Given the description of an element on the screen output the (x, y) to click on. 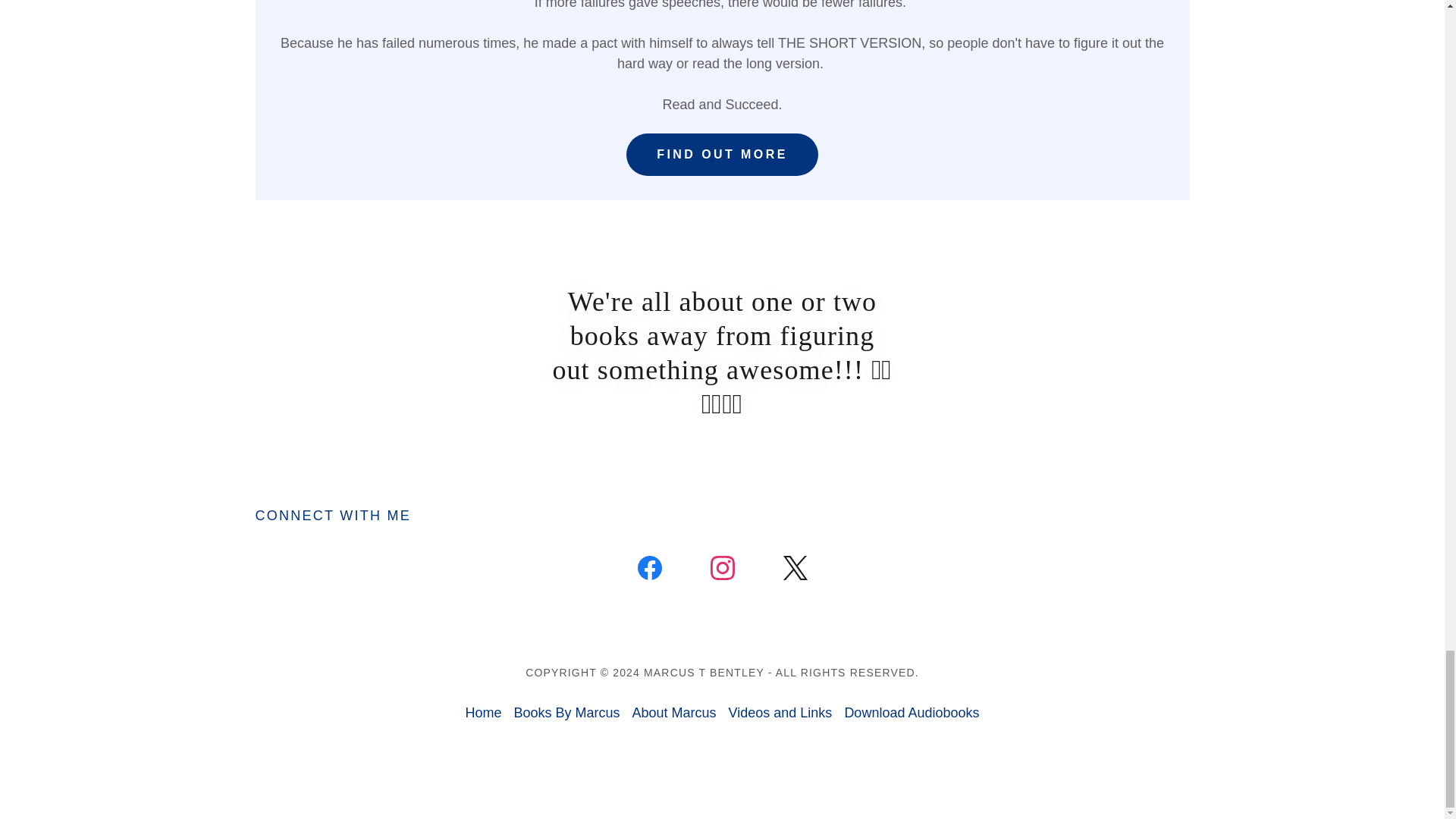
About Marcus (674, 713)
Download Audiobooks (911, 713)
Home (482, 713)
FIND OUT MORE (722, 154)
Books By Marcus (566, 713)
Videos and Links (780, 713)
